Given the description of an element on the screen output the (x, y) to click on. 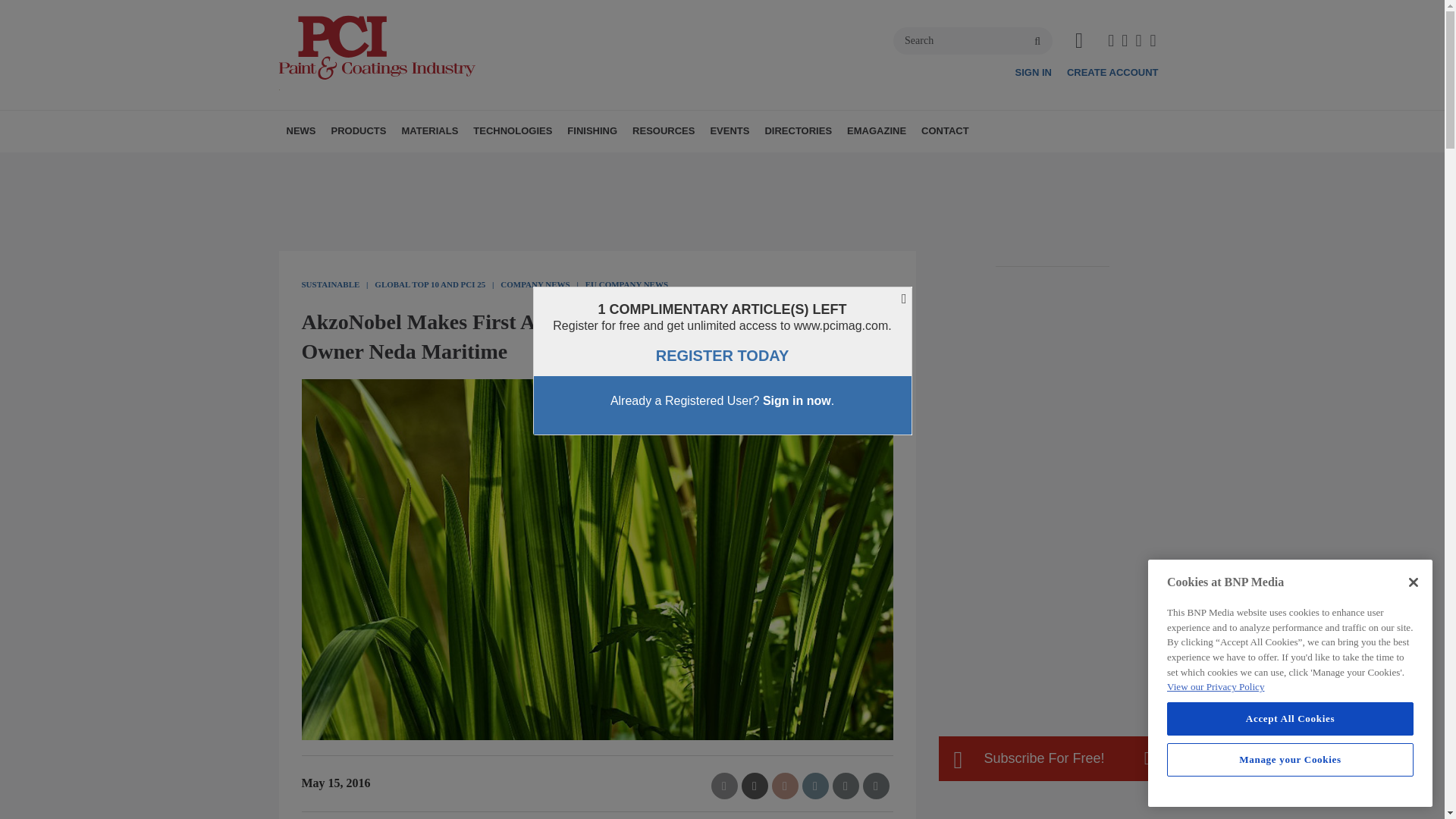
Search (972, 40)
Search (972, 40)
